Given the description of an element on the screen output the (x, y) to click on. 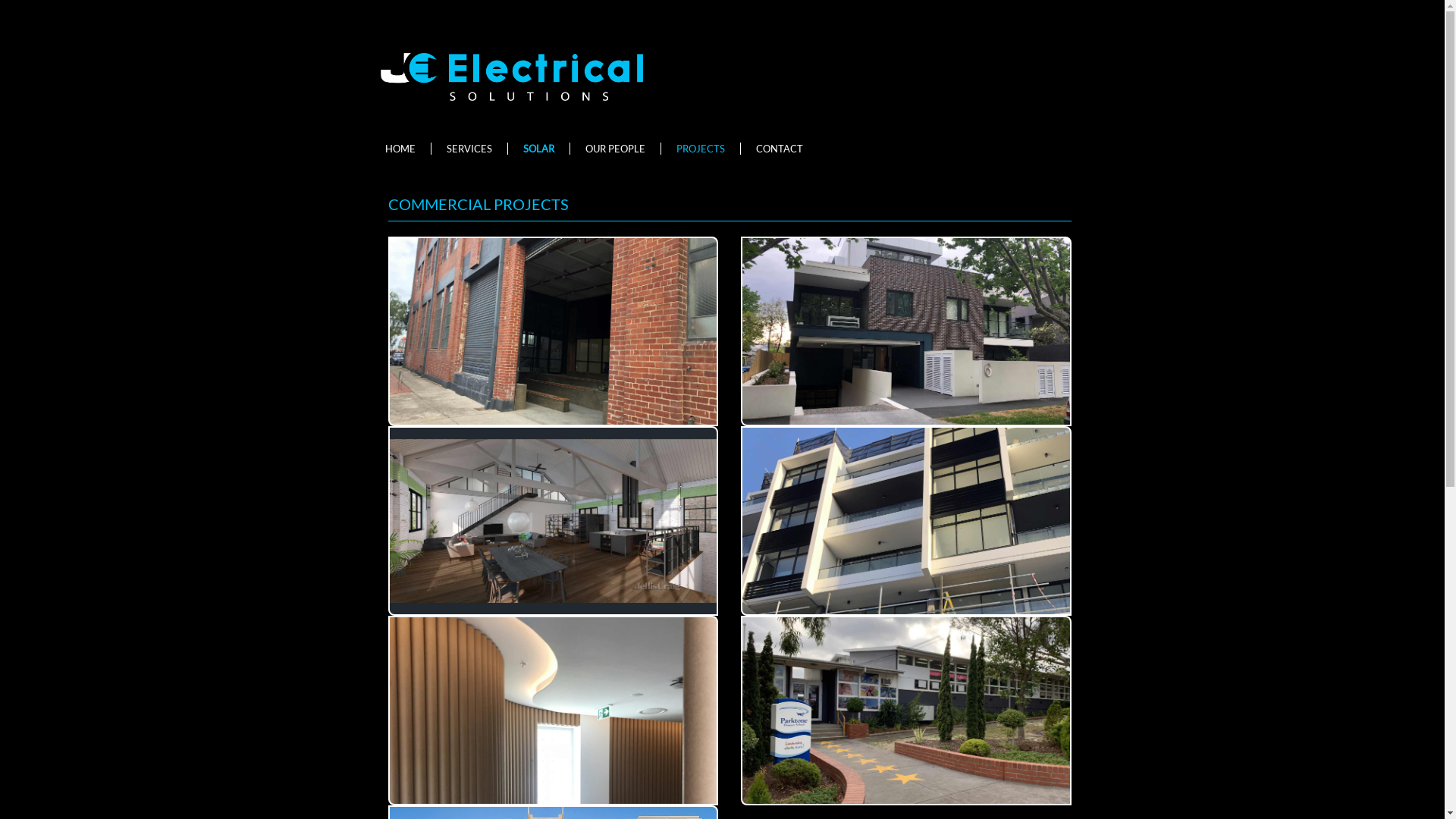
SERVICES Element type: text (472, 148)
HOME Element type: text (404, 148)
SOLAR Element type: text (542, 148)
OUR PEOPLE Element type: text (619, 148)
CONTACT Element type: text (782, 148)
PROJECTS Element type: text (704, 148)
